Given the description of an element on the screen output the (x, y) to click on. 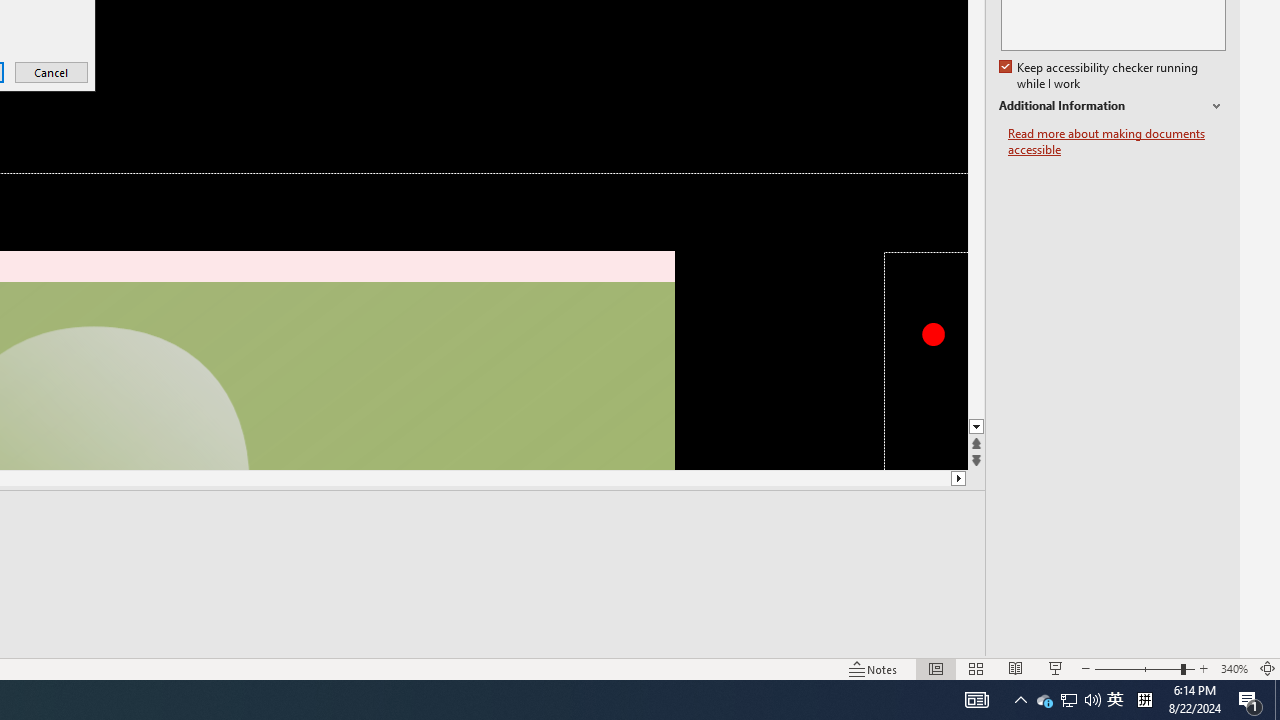
Zoom 340% (1234, 668)
